Given the description of an element on the screen output the (x, y) to click on. 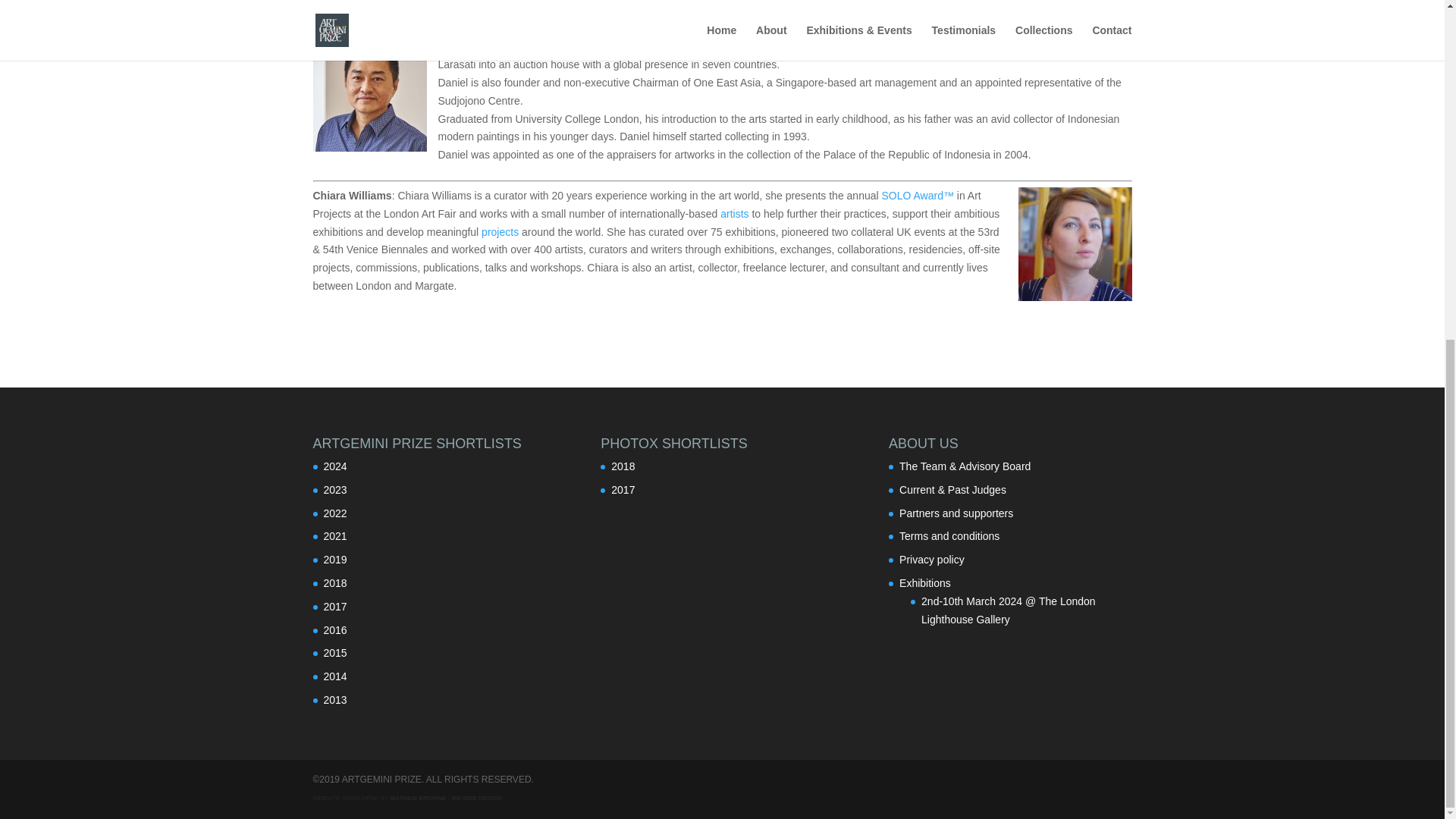
2018 (334, 582)
Terms and conditions (948, 535)
2013 (334, 699)
2018 (622, 466)
2022 (334, 512)
2016 (334, 630)
2015 (334, 653)
Partners and supporters (956, 512)
MB WEB DESIGN (475, 797)
2024 (334, 466)
2019 (334, 559)
artists (734, 214)
2014 (334, 676)
2021 (334, 535)
MATHEW BROWNE (418, 797)
